Given the description of an element on the screen output the (x, y) to click on. 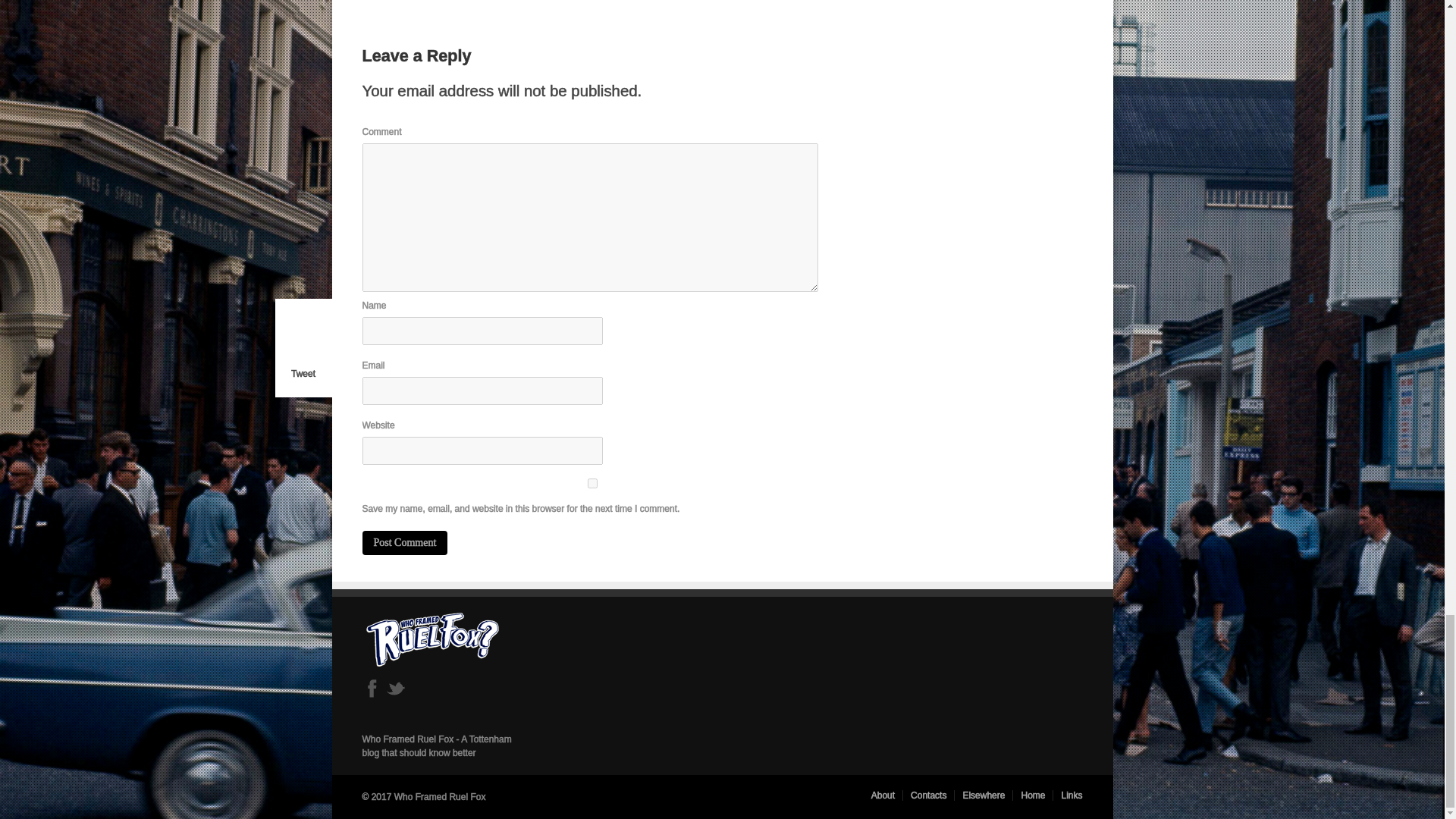
Post Comment (405, 542)
Post Comment (405, 542)
yes (593, 483)
